Given the description of an element on the screen output the (x, y) to click on. 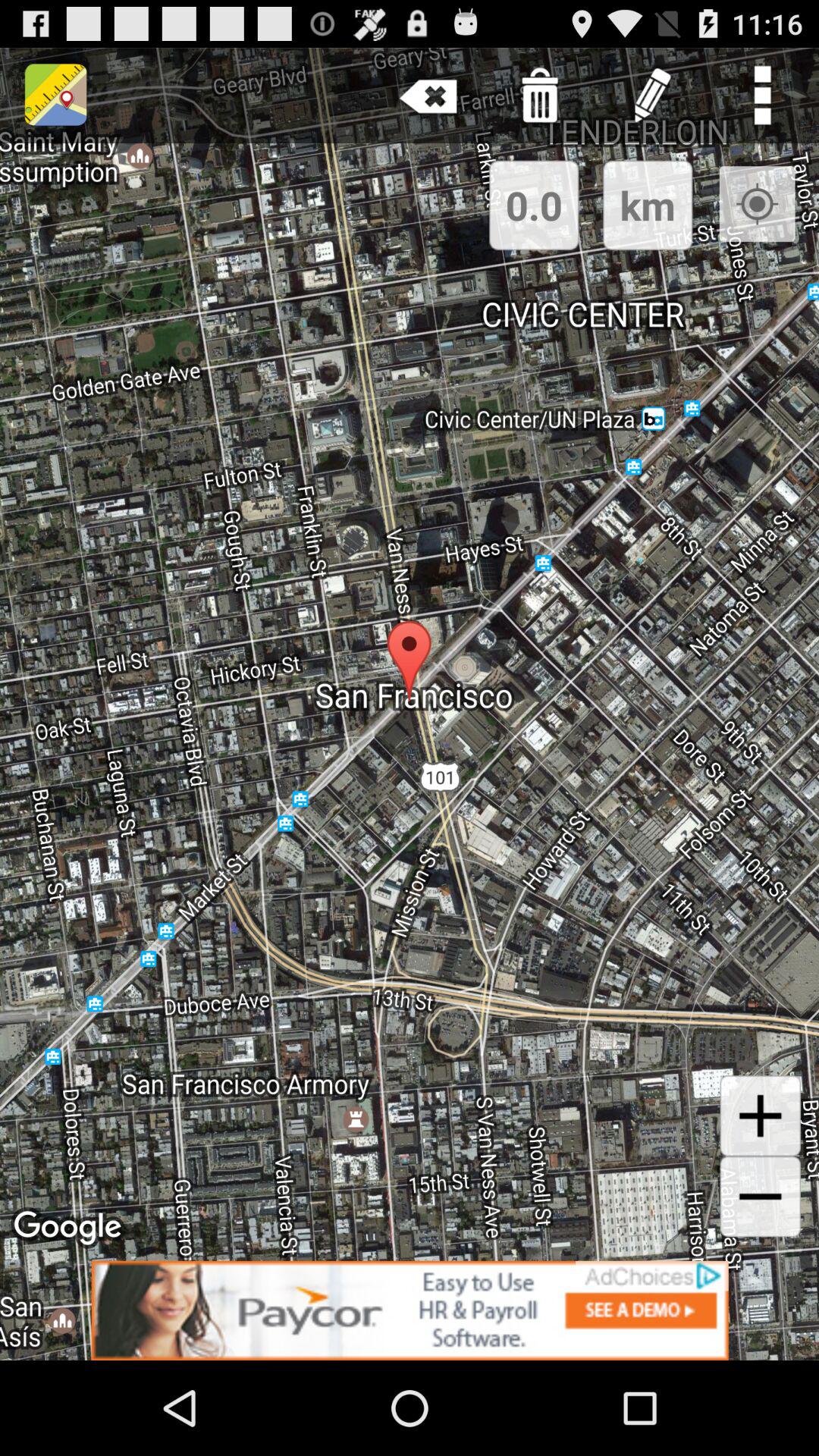
zoom in (760, 1115)
